Given the description of an element on the screen output the (x, y) to click on. 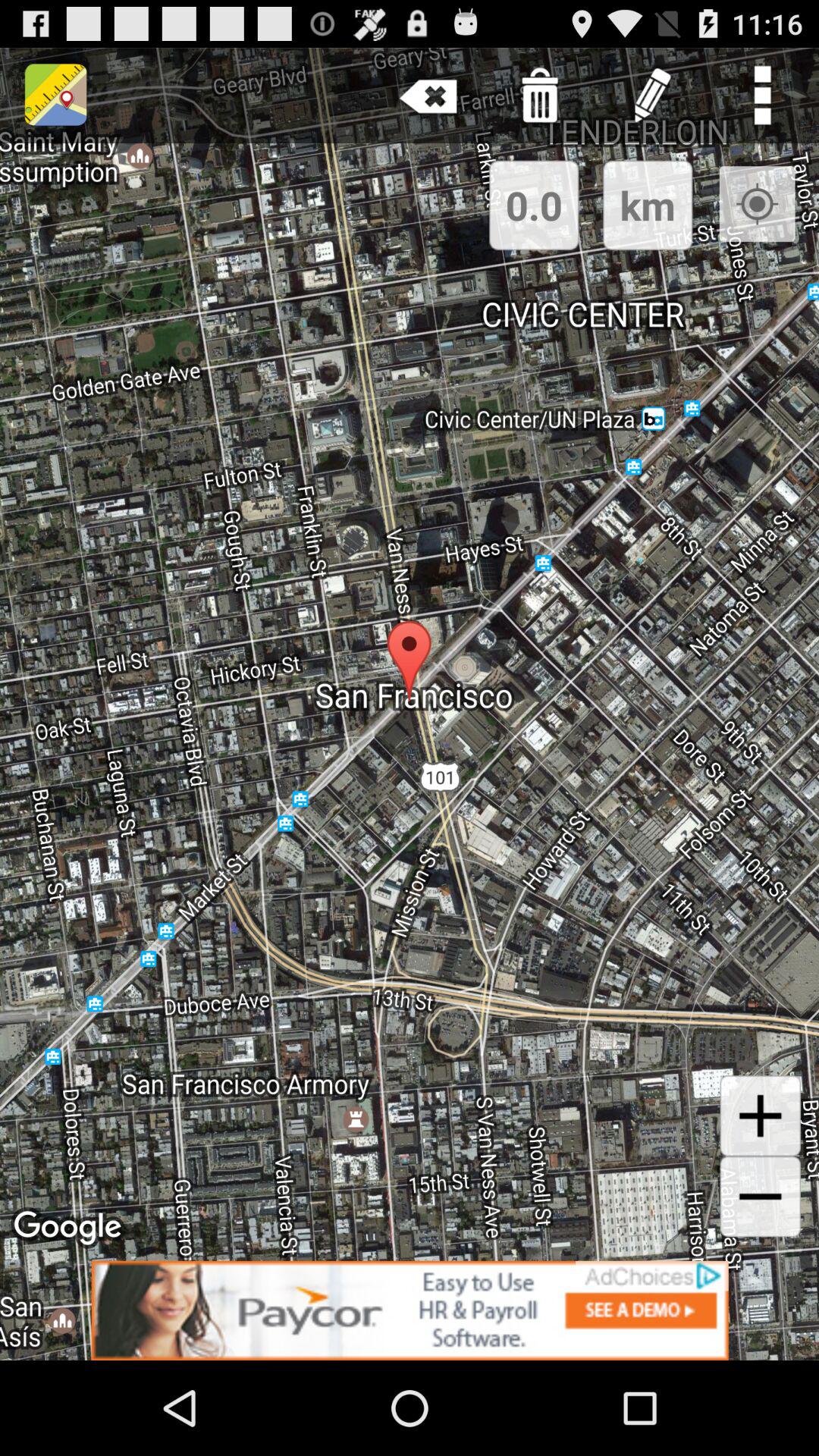
zoom in (760, 1115)
